Given the description of an element on the screen output the (x, y) to click on. 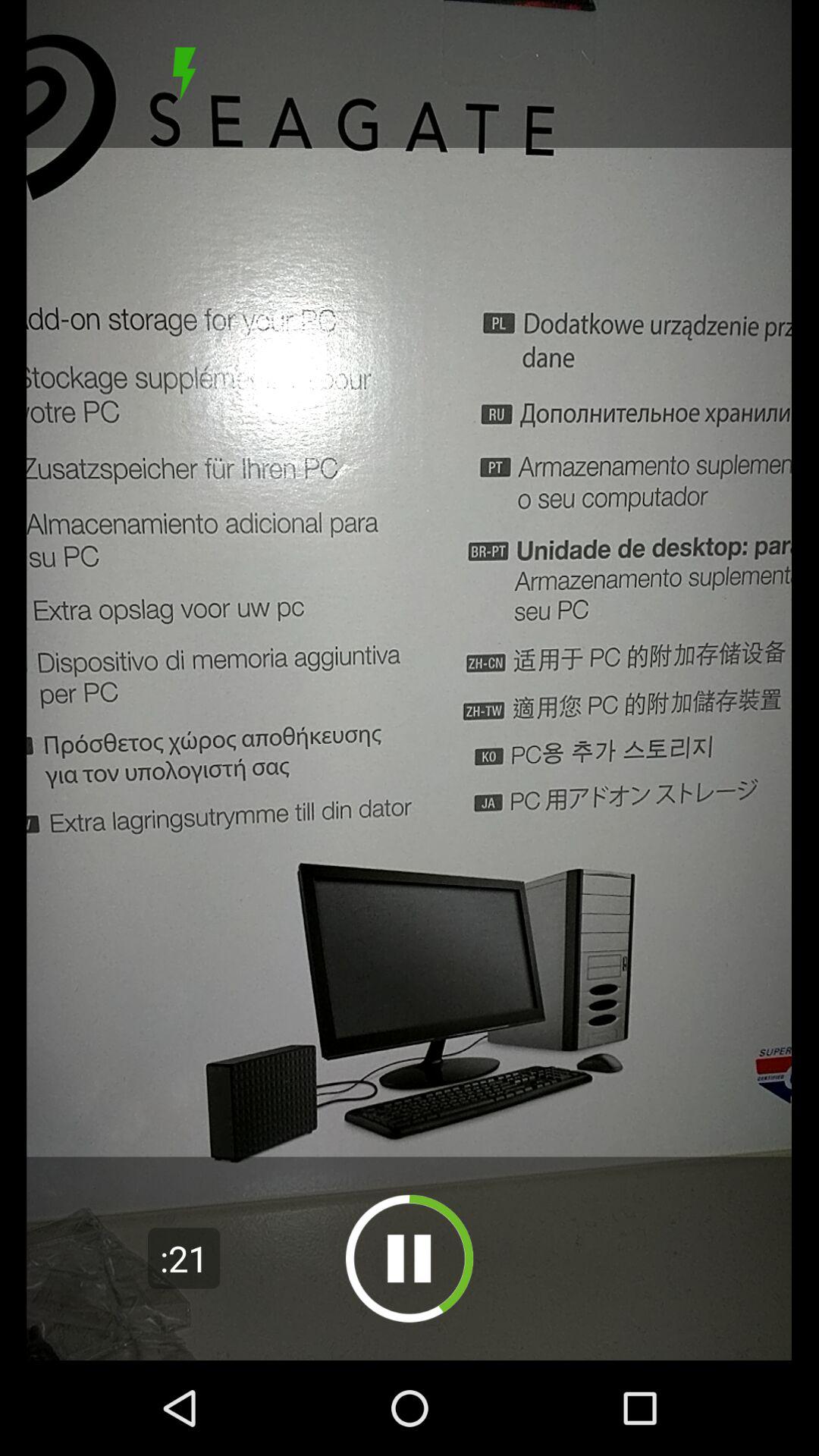
power (184, 73)
